Given the description of an element on the screen output the (x, y) to click on. 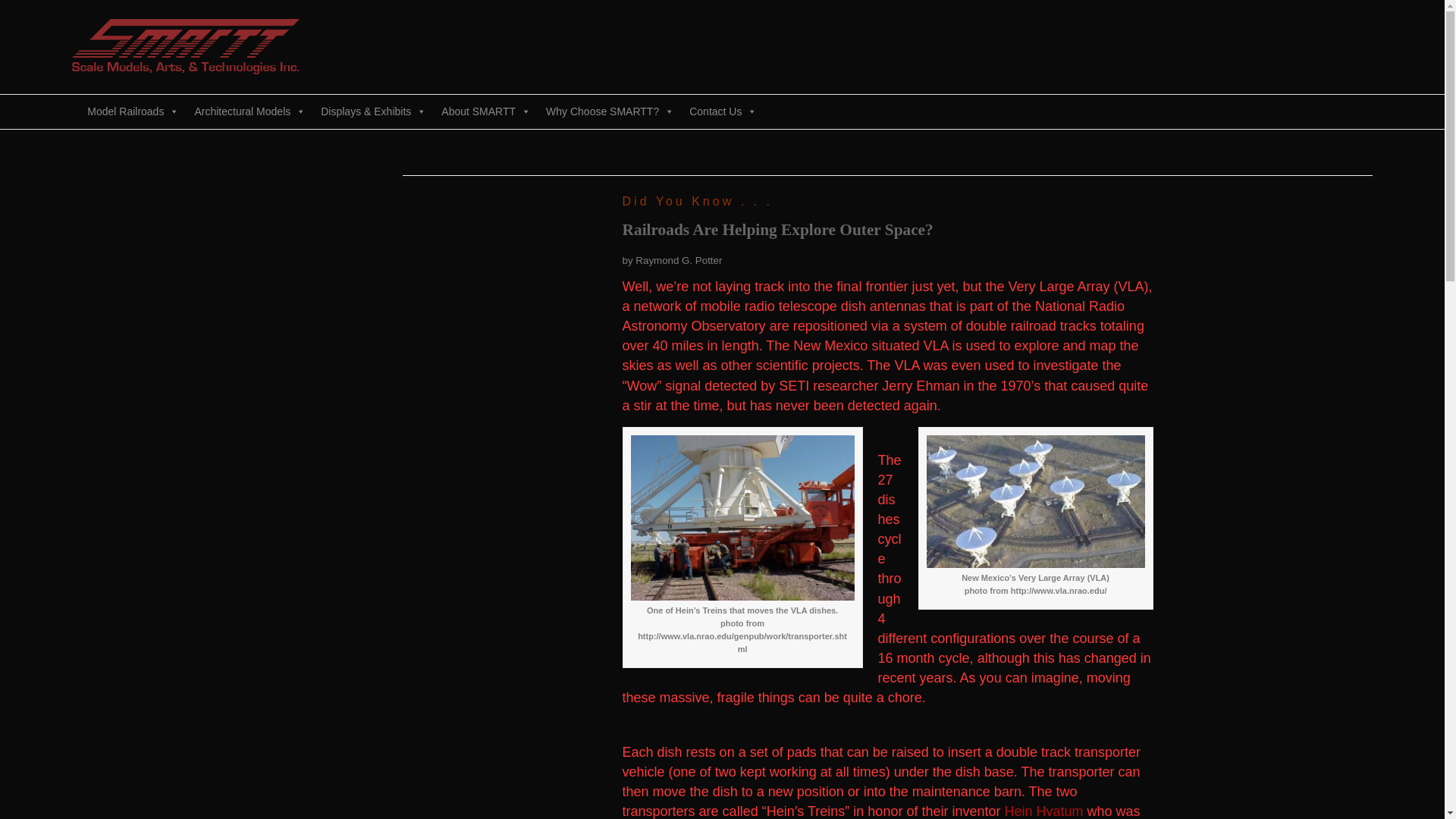
Architectural Models (249, 111)
Model Railroads (133, 111)
Why Choose SMARTT? (609, 111)
About SMARTT (485, 111)
